Given the description of an element on the screen output the (x, y) to click on. 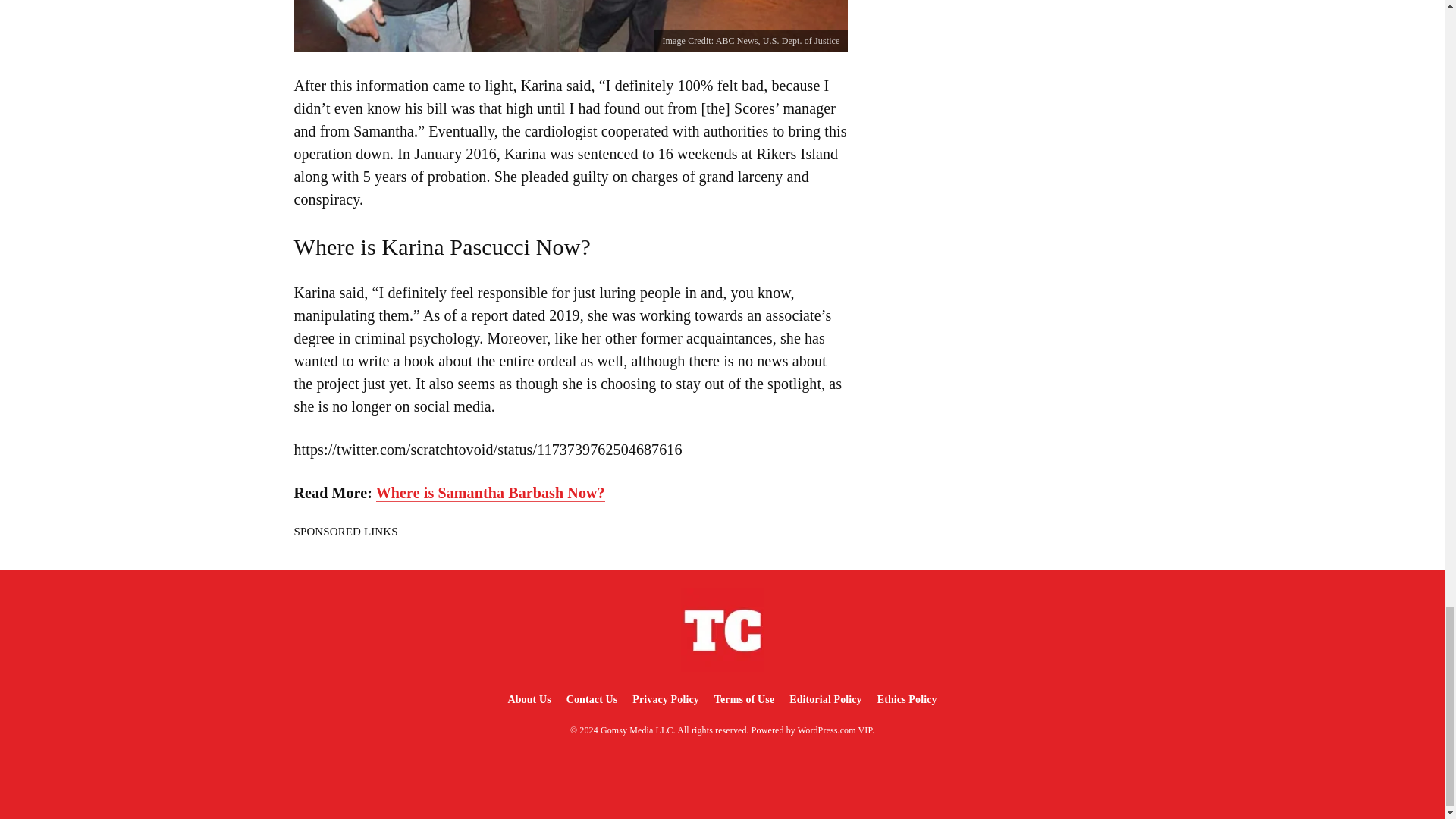
Contact Us (592, 699)
Where is Samantha Barbash Now? (490, 493)
Terms of Use (743, 699)
Editorial Policy (825, 699)
WordPress.com VIP (834, 729)
Privacy Policy (665, 699)
Ethics Policy (906, 699)
About Us (528, 699)
